Given the description of an element on the screen output the (x, y) to click on. 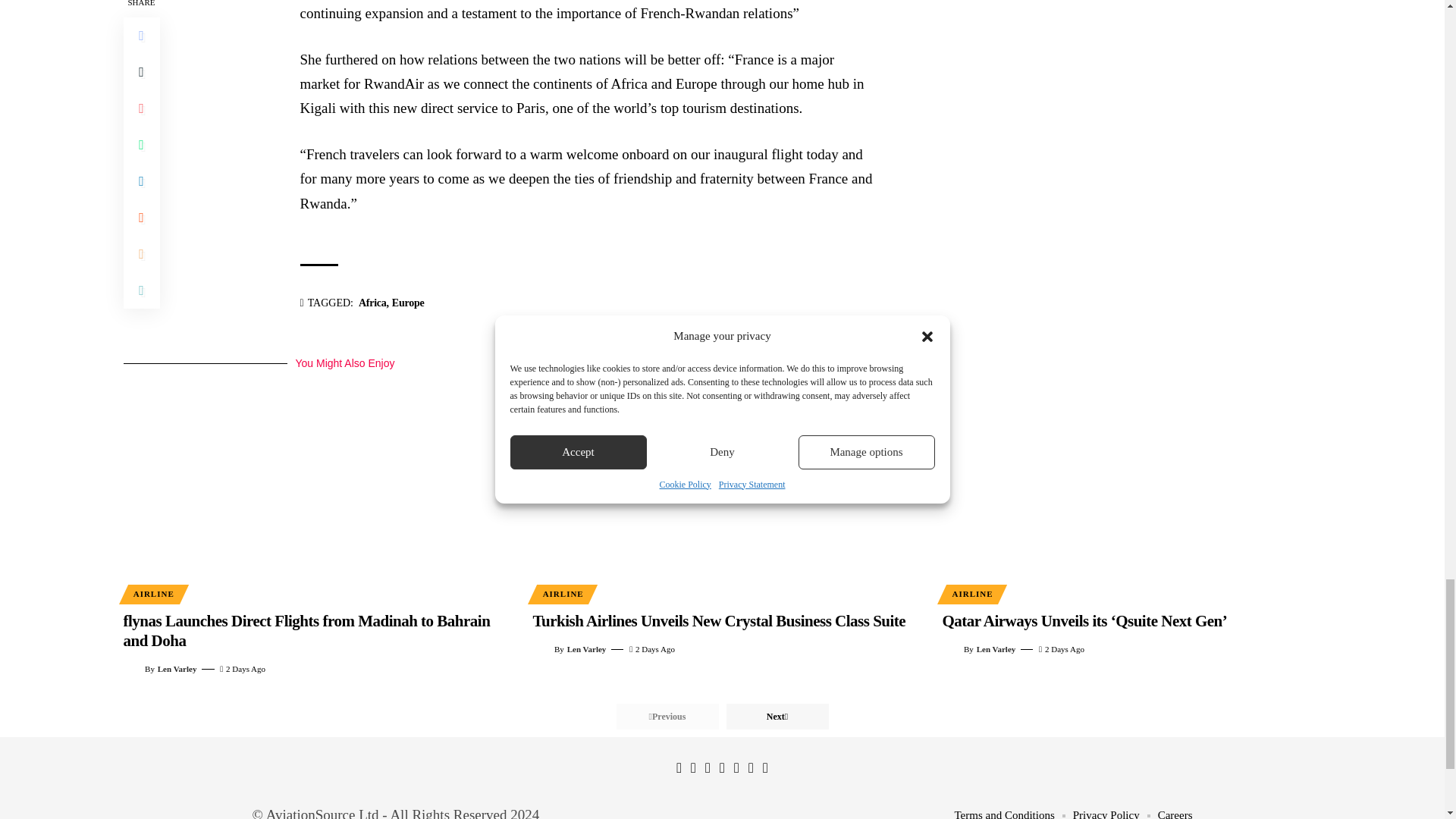
Turkish Airlines Unveils New Crystal Business Class Suite (721, 485)
